Given the description of an element on the screen output the (x, y) to click on. 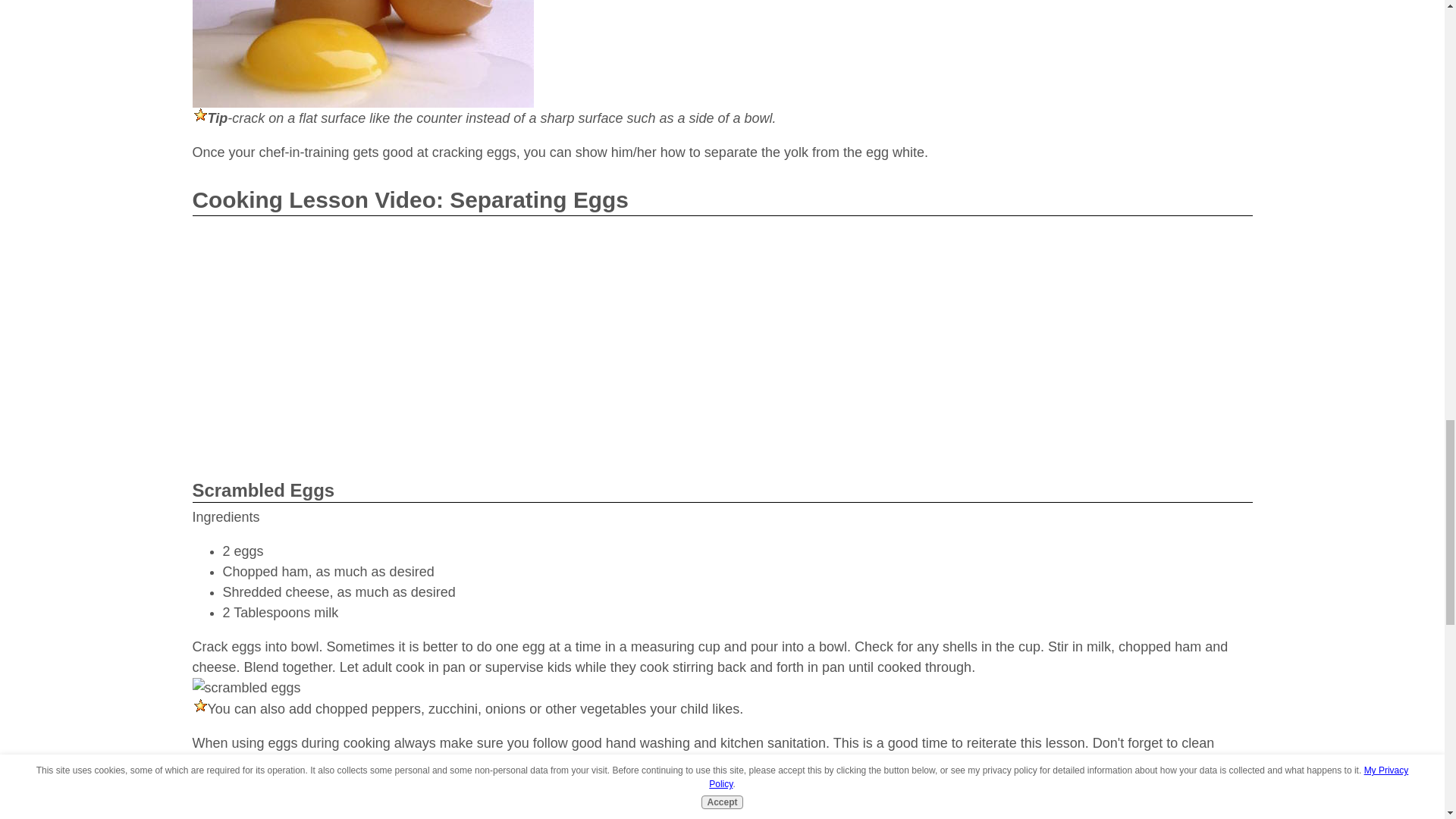
different ways to cook eggs. (364, 804)
